Given the description of an element on the screen output the (x, y) to click on. 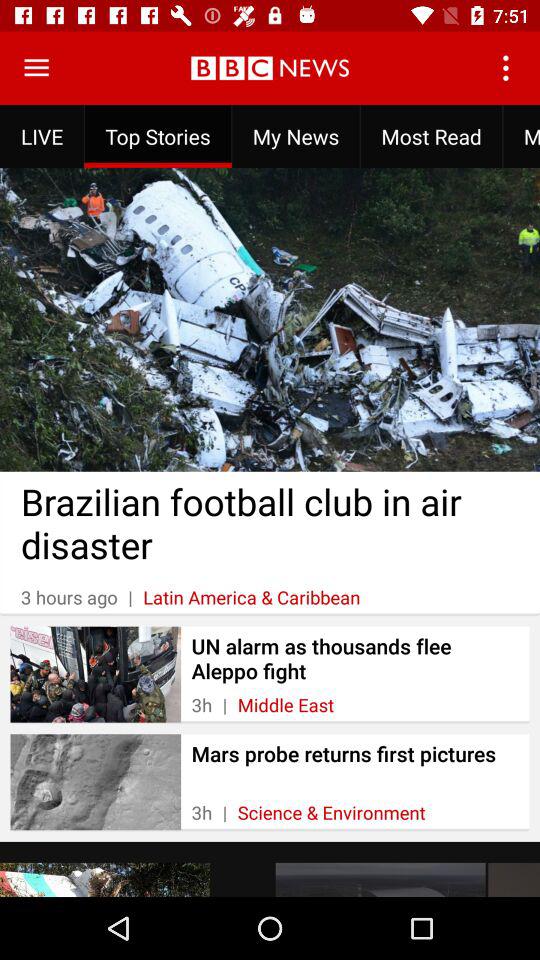
open menu (36, 68)
